Given the description of an element on the screen output the (x, y) to click on. 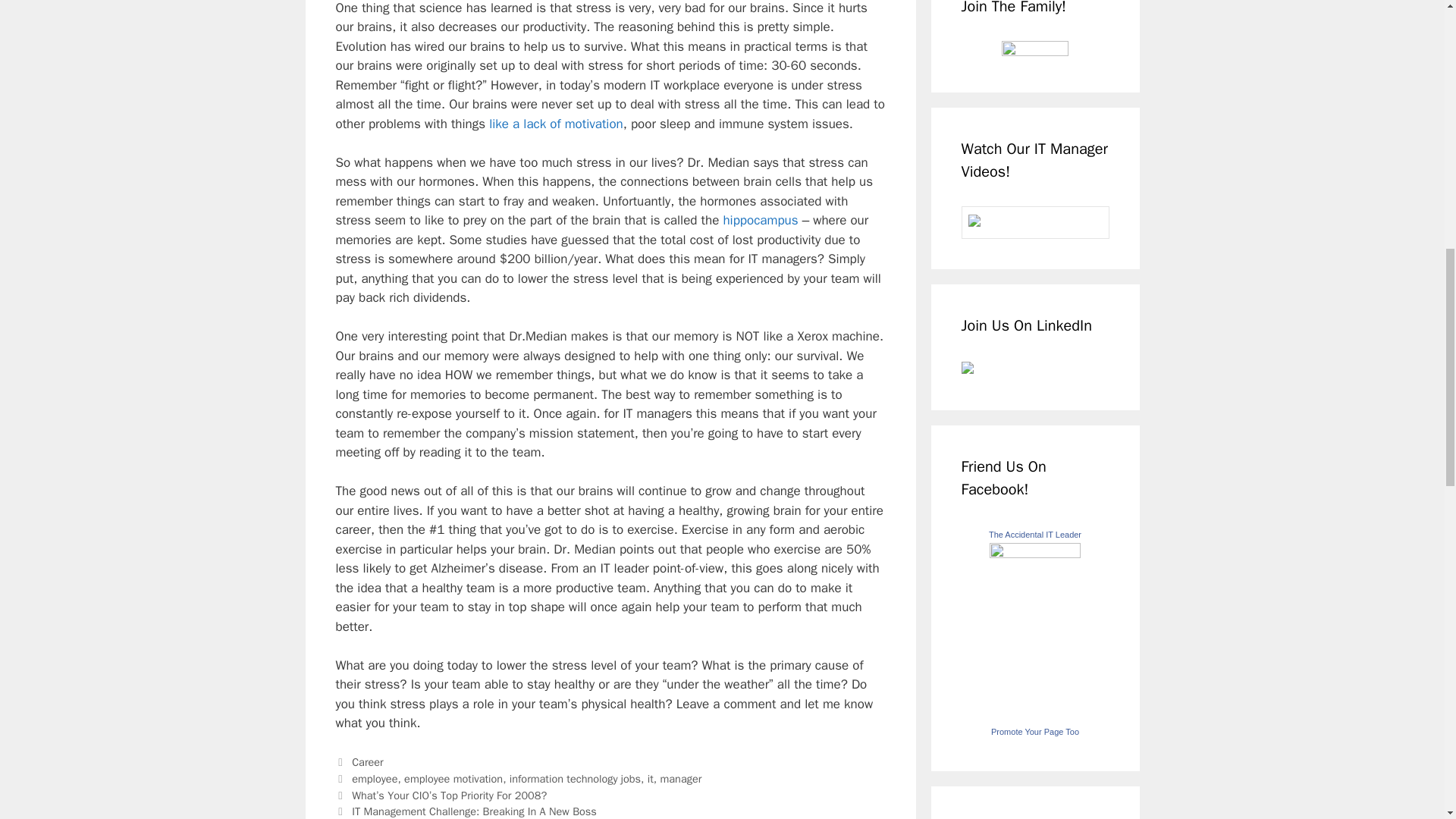
The Accidental IT Leader (1035, 553)
Turns Out That Employee Motivation IS Like Brain Surgery (556, 123)
hippocampus (762, 220)
What is the hippocampus? (762, 220)
The Accidental IT Leader (1034, 533)
IT Management Challenge: Breaking In A New Boss (474, 811)
manager (680, 778)
Make your own badge! (1034, 731)
information technology jobs (574, 778)
employee motivation (453, 778)
